Given the description of an element on the screen output the (x, y) to click on. 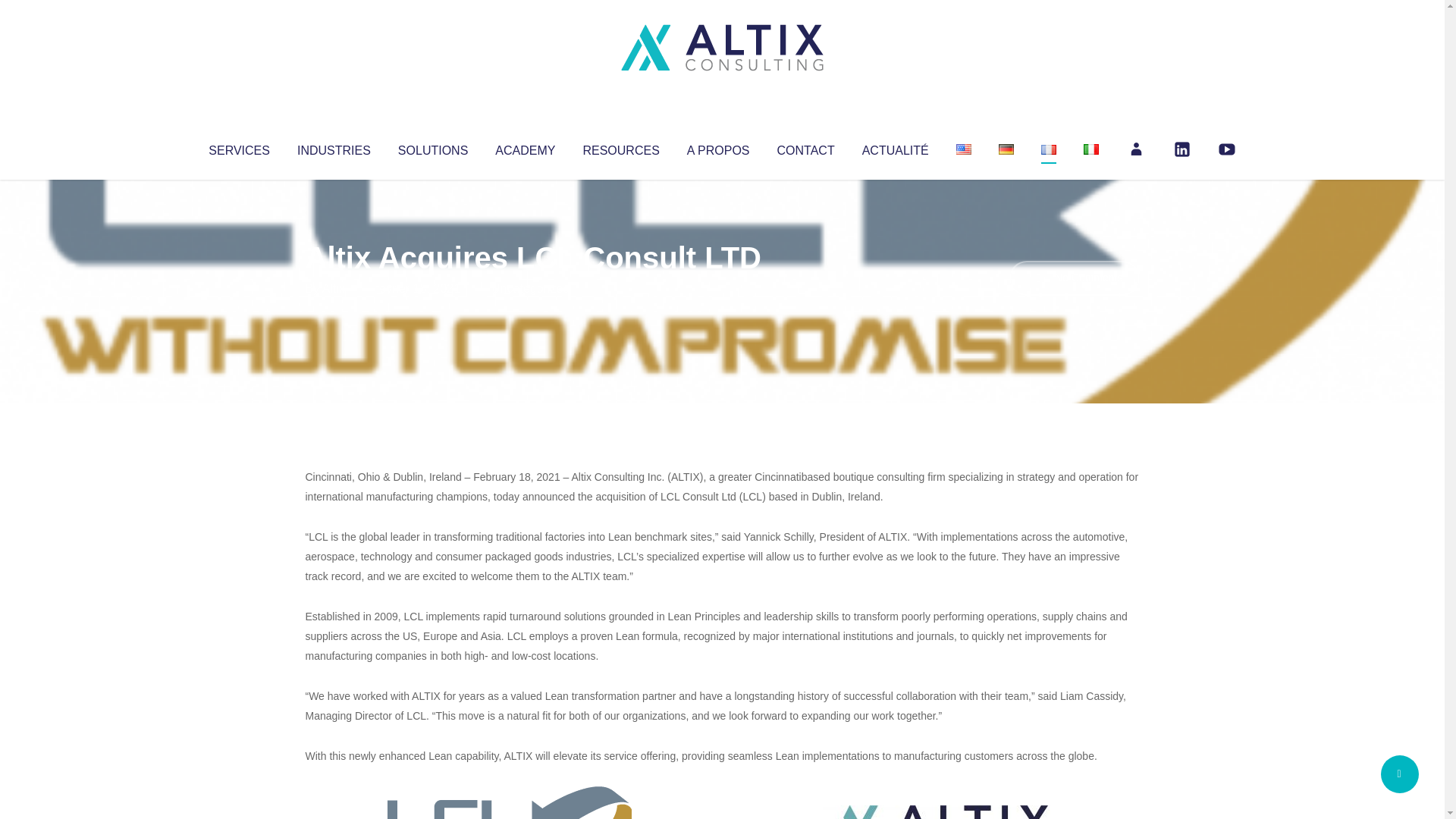
SERVICES (238, 146)
INDUSTRIES (334, 146)
No Comments (1073, 278)
Uncategorized (530, 287)
Altix (333, 287)
A PROPOS (718, 146)
RESOURCES (620, 146)
SOLUTIONS (432, 146)
Articles par Altix (333, 287)
ACADEMY (524, 146)
